Given the description of an element on the screen output the (x, y) to click on. 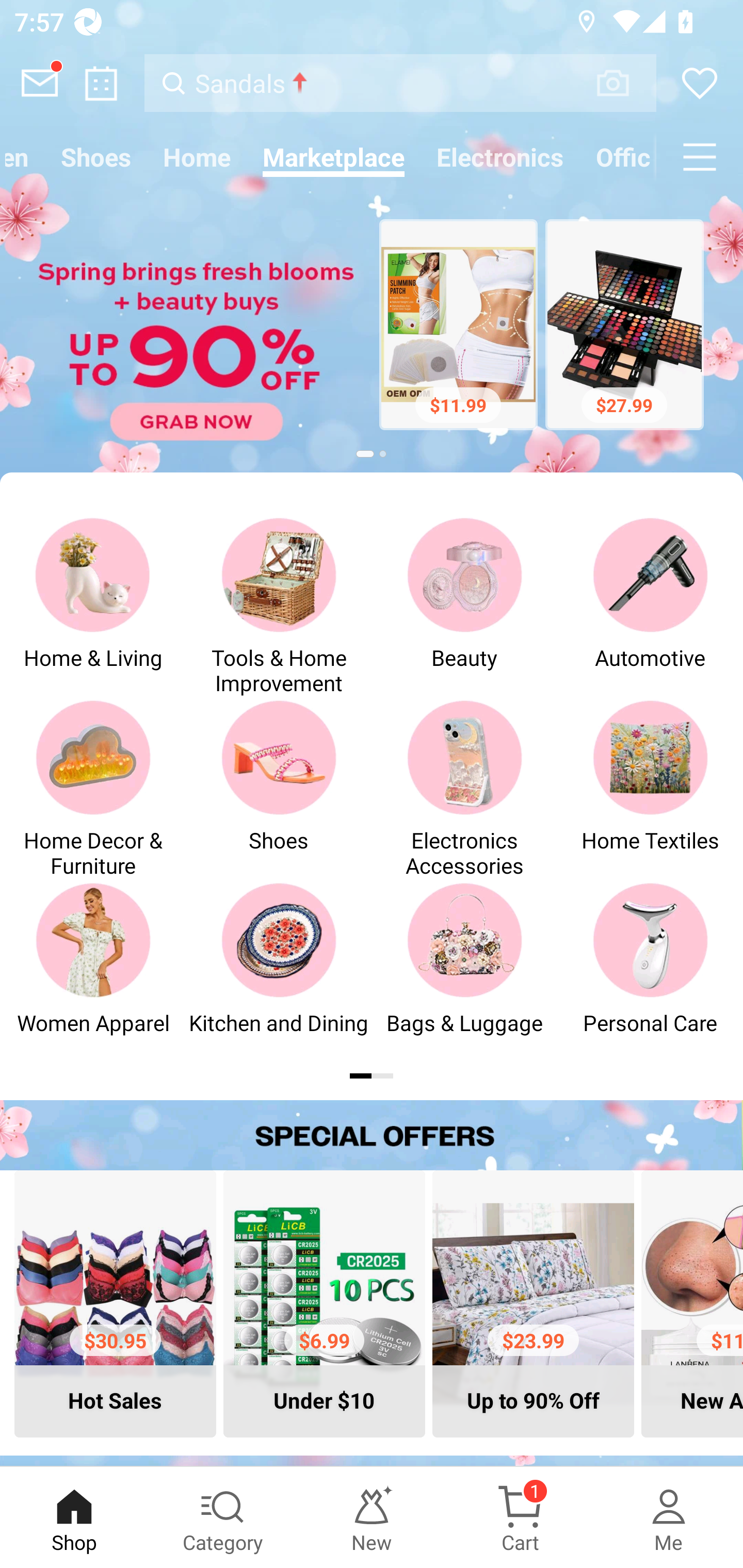
Wishlist (699, 82)
VISUAL SEARCH (623, 82)
Shoes (95, 156)
Home (196, 156)
Marketplace (333, 156)
Electronics (500, 156)
Office (618, 156)
$11.99 $27.99 (371, 327)
Home & Living (92, 605)
Tools & Home Improvement (278, 605)
Beauty (464, 605)
Automotive (650, 605)
Home Decor & Furniture (92, 788)
Shoes (278, 788)
Electronics Accessories (464, 788)
Home Textiles (650, 788)
Women Apparel (92, 971)
Kitchen and Dining (278, 971)
Bags & Luggage (464, 971)
Personal Care (650, 971)
$30.95 Hot Sales (115, 1303)
$6.99 Under $10 (323, 1303)
$23.99 Up to 90% Off (532, 1303)
Category (222, 1517)
New (371, 1517)
Cart 1 Cart (519, 1517)
Me (668, 1517)
